Given the description of an element on the screen output the (x, y) to click on. 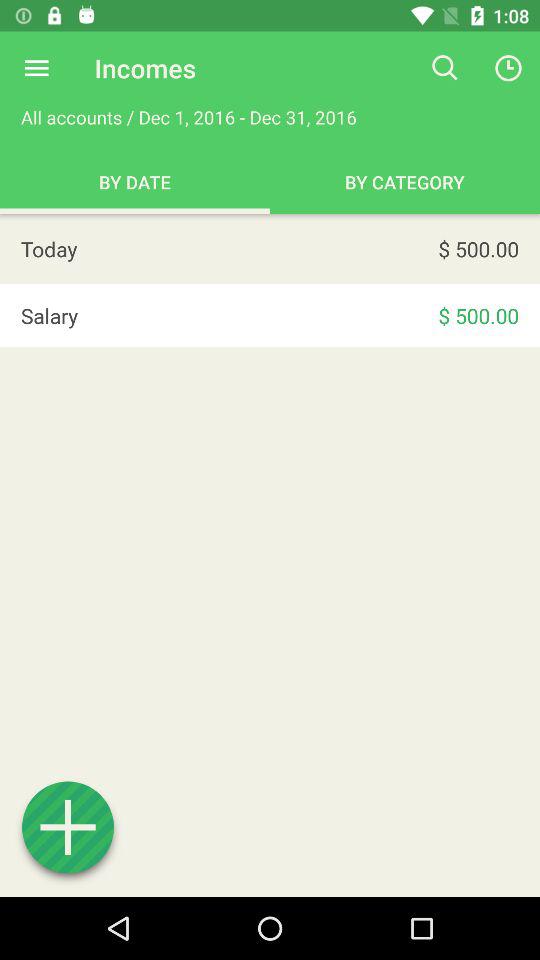
press icon to the left of the incomes item (36, 68)
